Given the description of an element on the screen output the (x, y) to click on. 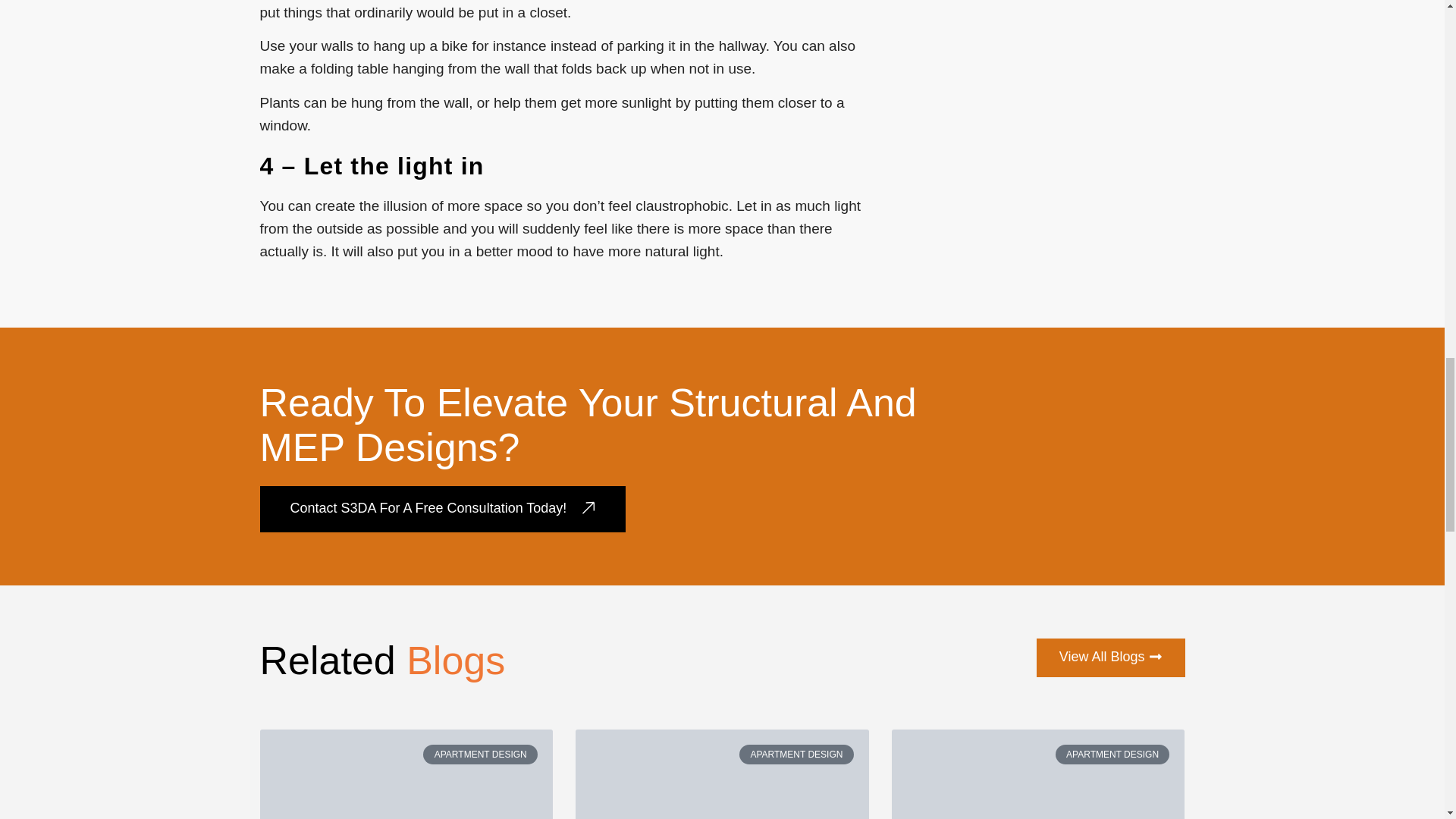
Contact S3DA For A Free Consultation Today! (442, 509)
View All Blogs (1110, 657)
